Given the description of an element on the screen output the (x, y) to click on. 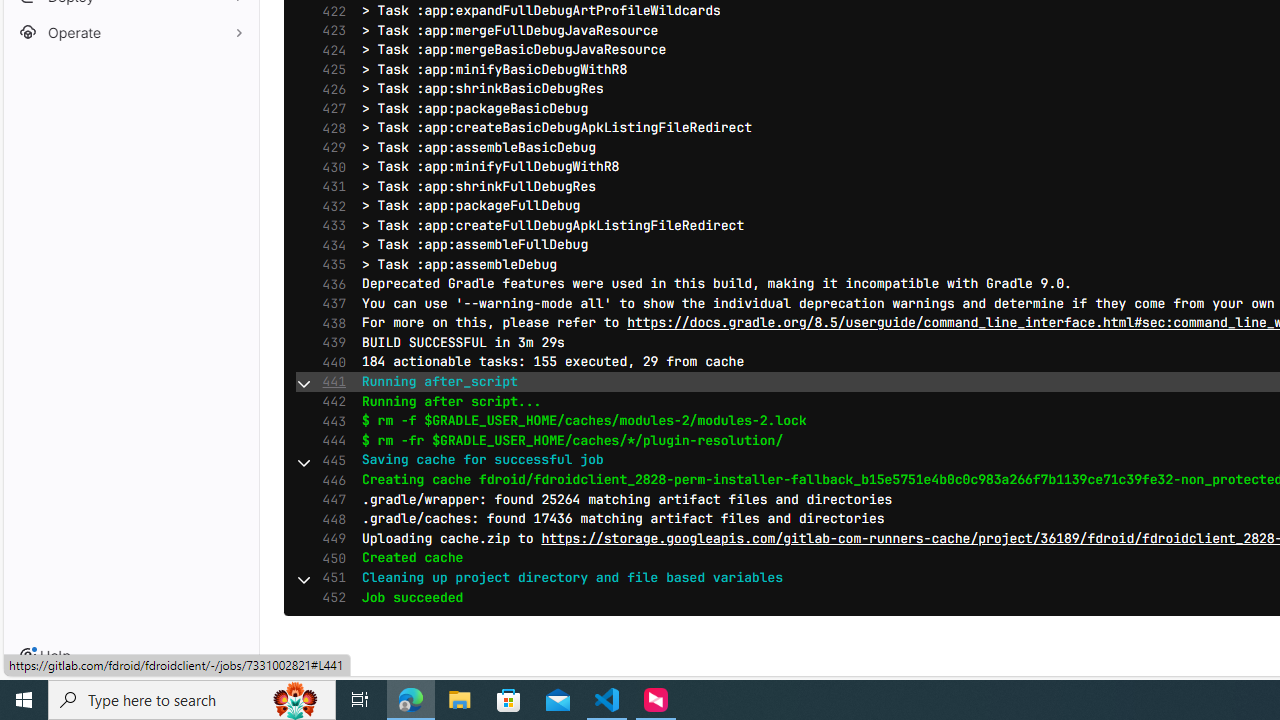
437 (329, 303)
432 (329, 205)
443 (329, 421)
451 (329, 578)
